Given the description of an element on the screen output the (x, y) to click on. 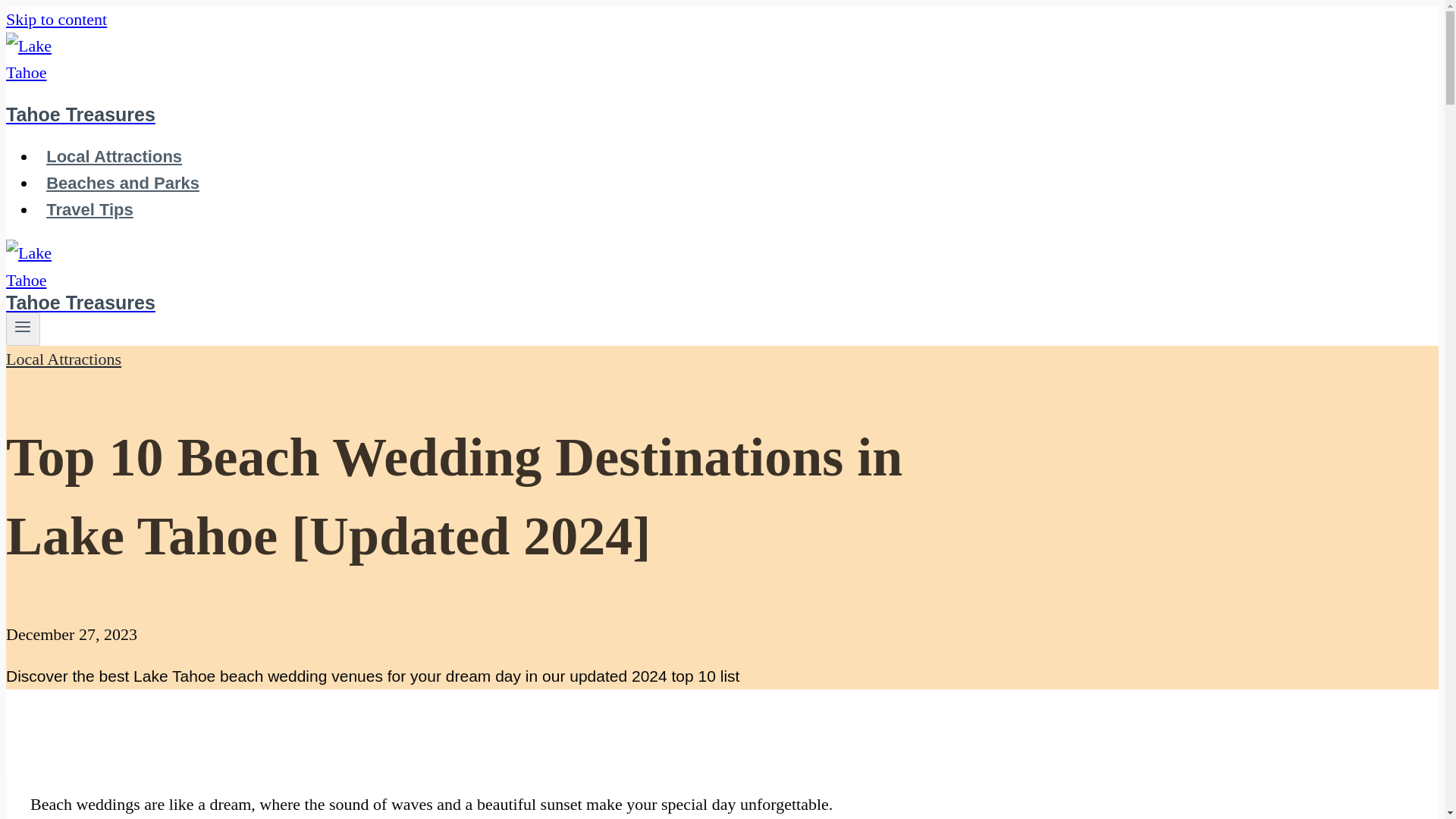
Skip to content (55, 18)
Tahoe Treasures (494, 291)
Toggle Menu (22, 326)
Toggle Menu (22, 328)
Local Attractions (62, 358)
Travel Tips (89, 209)
Skip to content (55, 18)
Beaches and Parks (122, 182)
Local Attractions (114, 156)
Tahoe Treasures (494, 93)
